Given the description of an element on the screen output the (x, y) to click on. 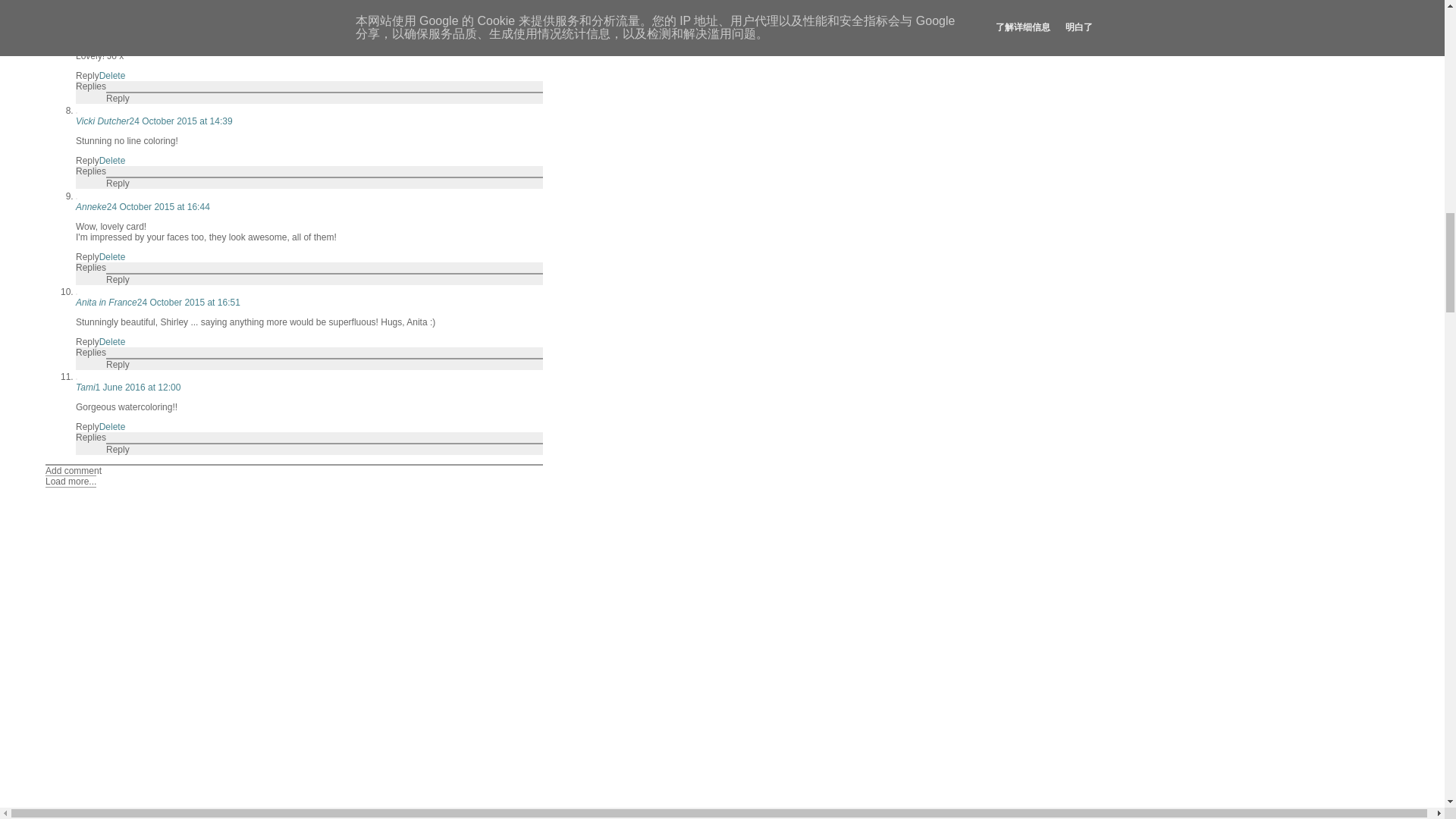
Newer Post (72, 816)
Older Post (126, 816)
